Given the description of an element on the screen output the (x, y) to click on. 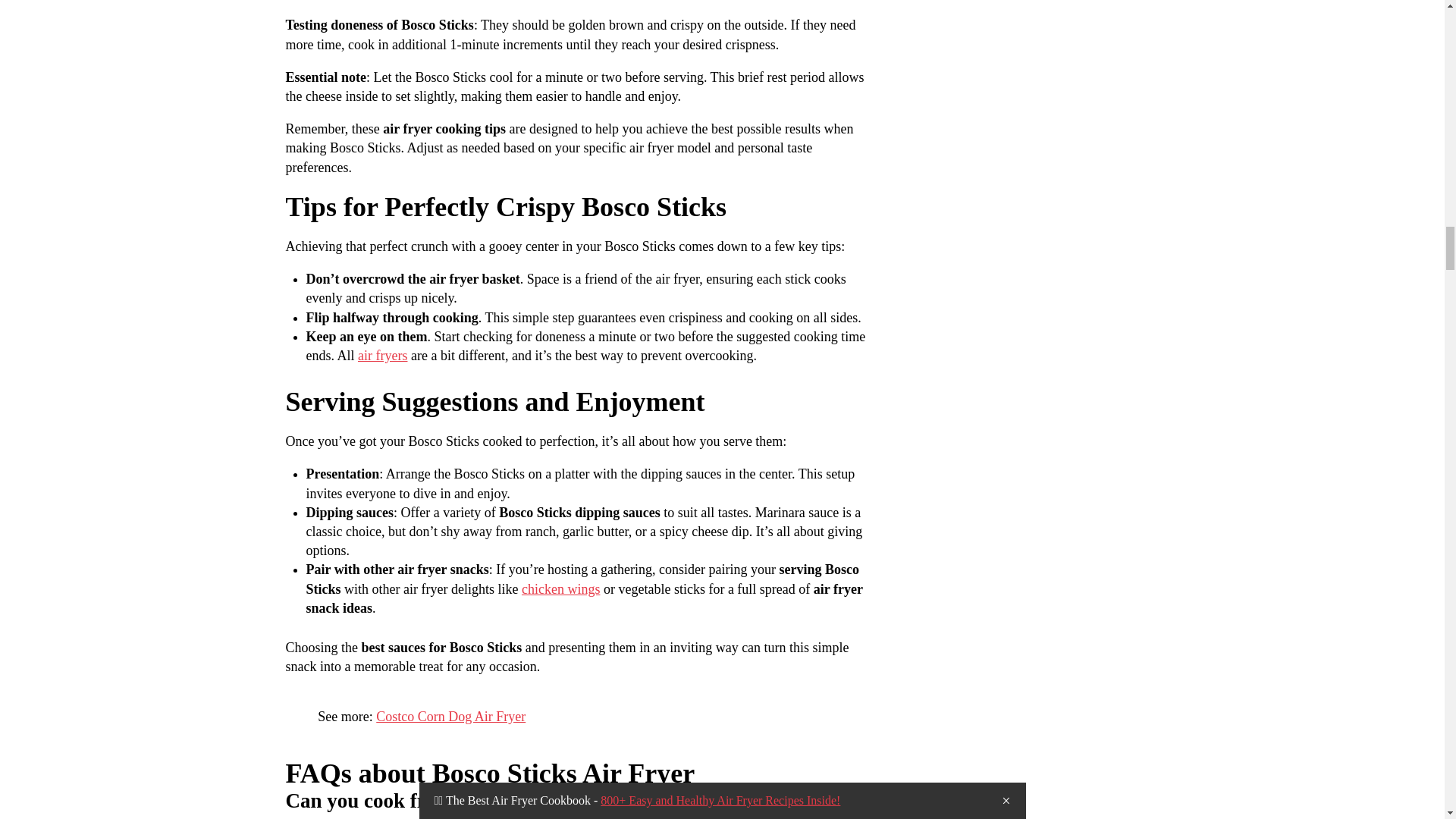
Costco Corn Dog Air Fryer (450, 716)
chicken wings (560, 589)
air fryers (382, 355)
